Given the description of an element on the screen output the (x, y) to click on. 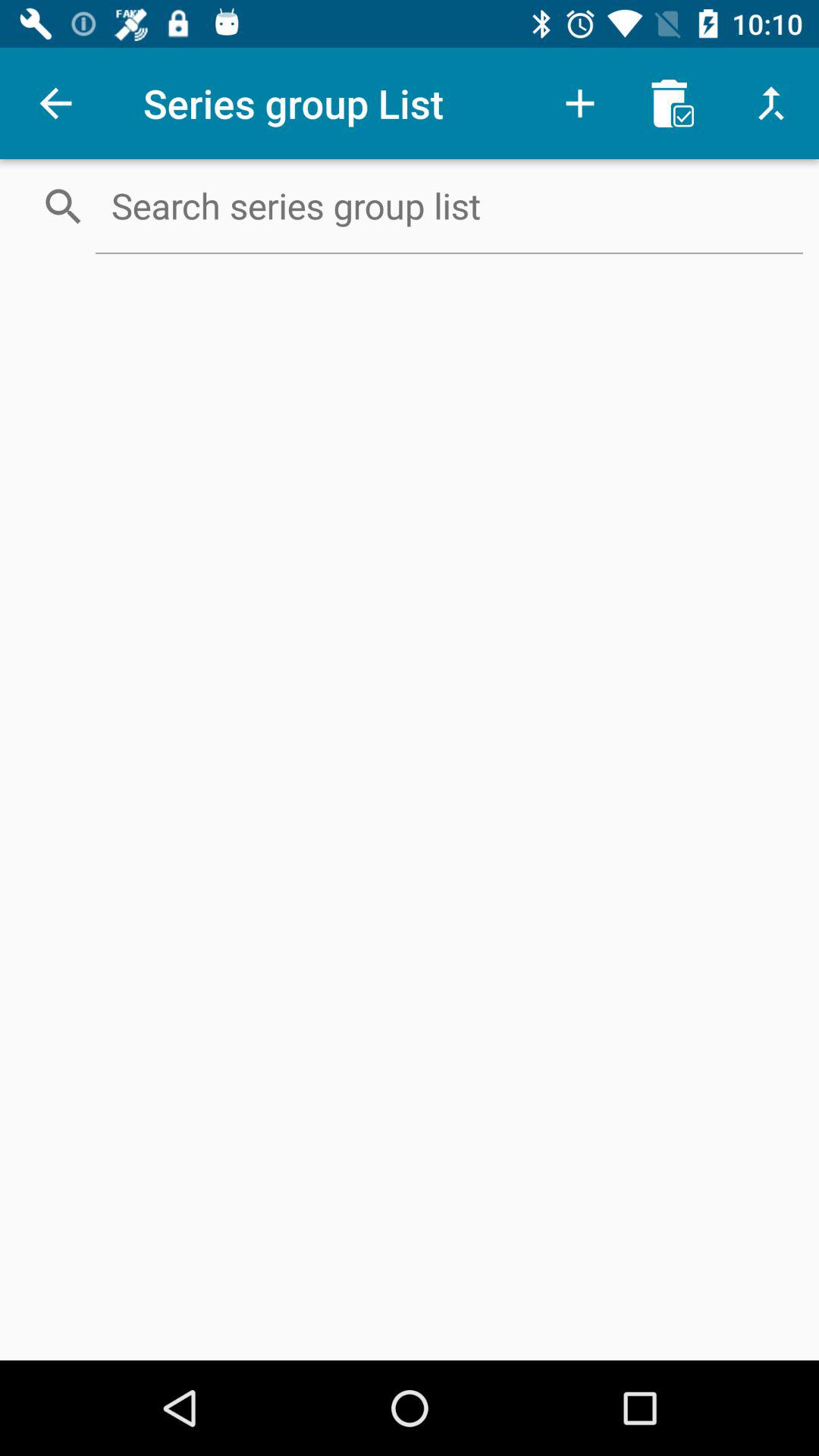
choose icon to the left of series group list item (55, 103)
